Given the description of an element on the screen output the (x, y) to click on. 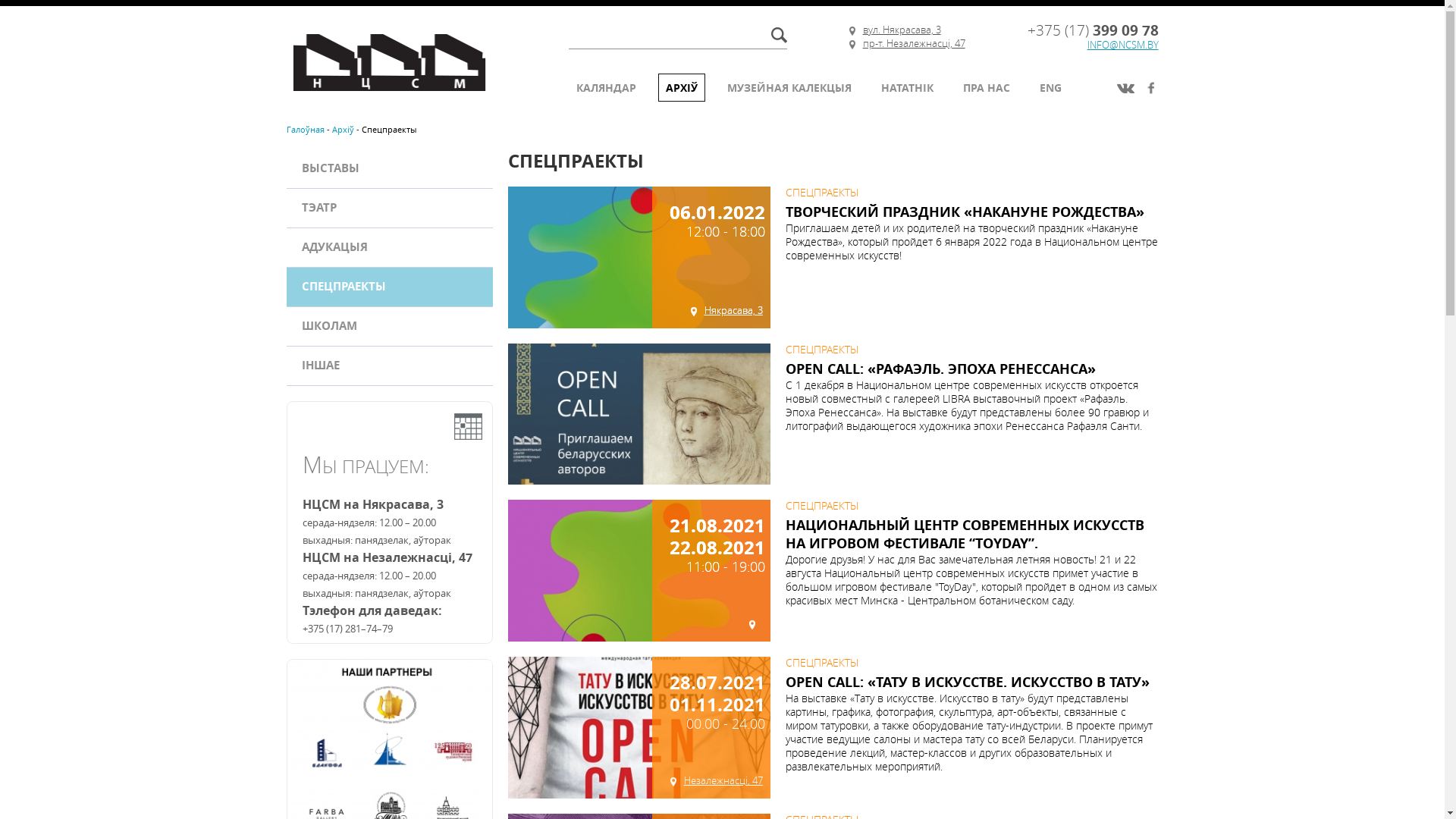
ENG Element type: text (1050, 87)
INFO@NCSM.BY Element type: text (1122, 44)
+375 (17) 399 09 78 Element type: text (1092, 29)
